Given the description of an element on the screen output the (x, y) to click on. 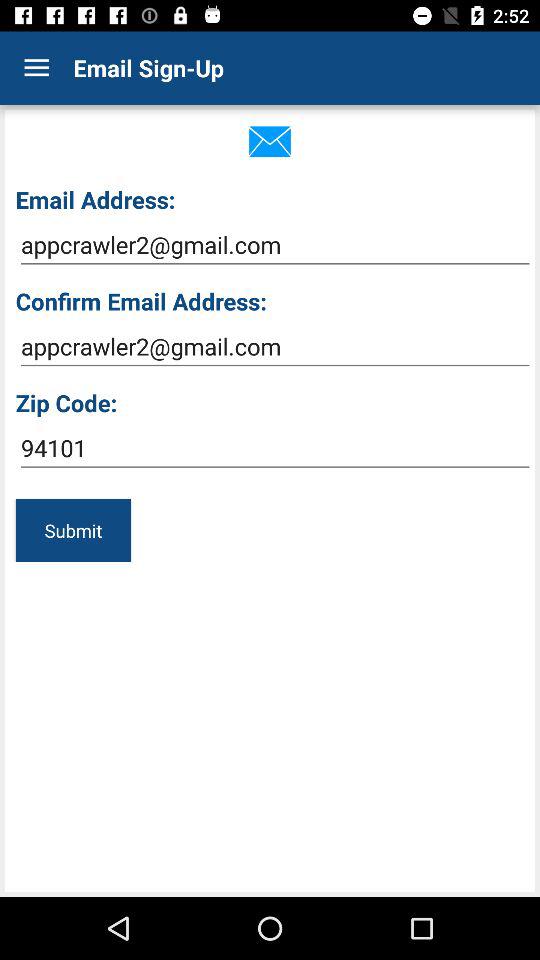
turn on item above email address: (36, 68)
